Given the description of an element on the screen output the (x, y) to click on. 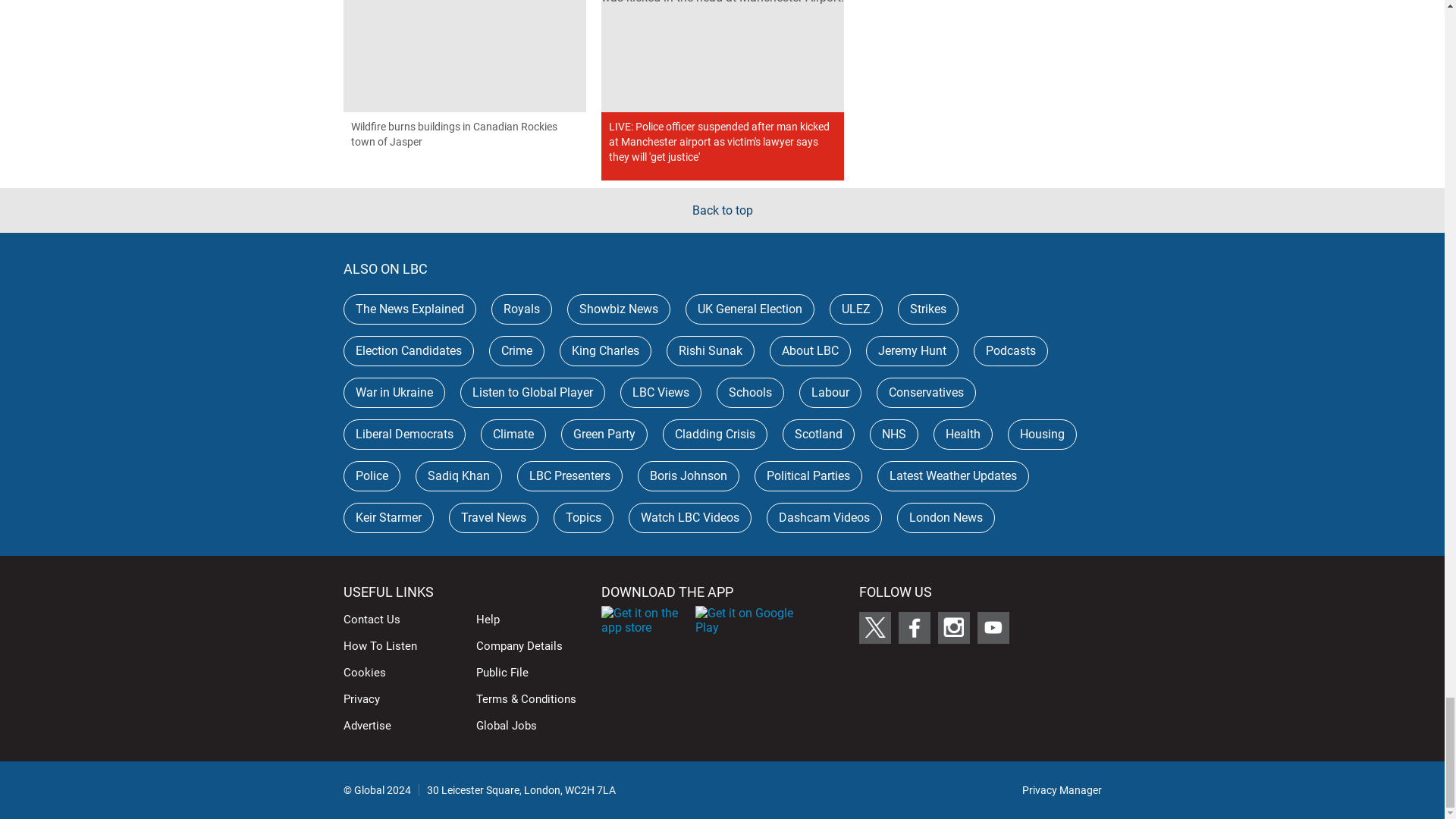
Back to top (721, 210)
Follow LBC on Facebook (914, 627)
Follow LBC on X (874, 627)
Follow LBC on Instagram (953, 627)
Follow LBC on Youtube (992, 627)
